Given the description of an element on the screen output the (x, y) to click on. 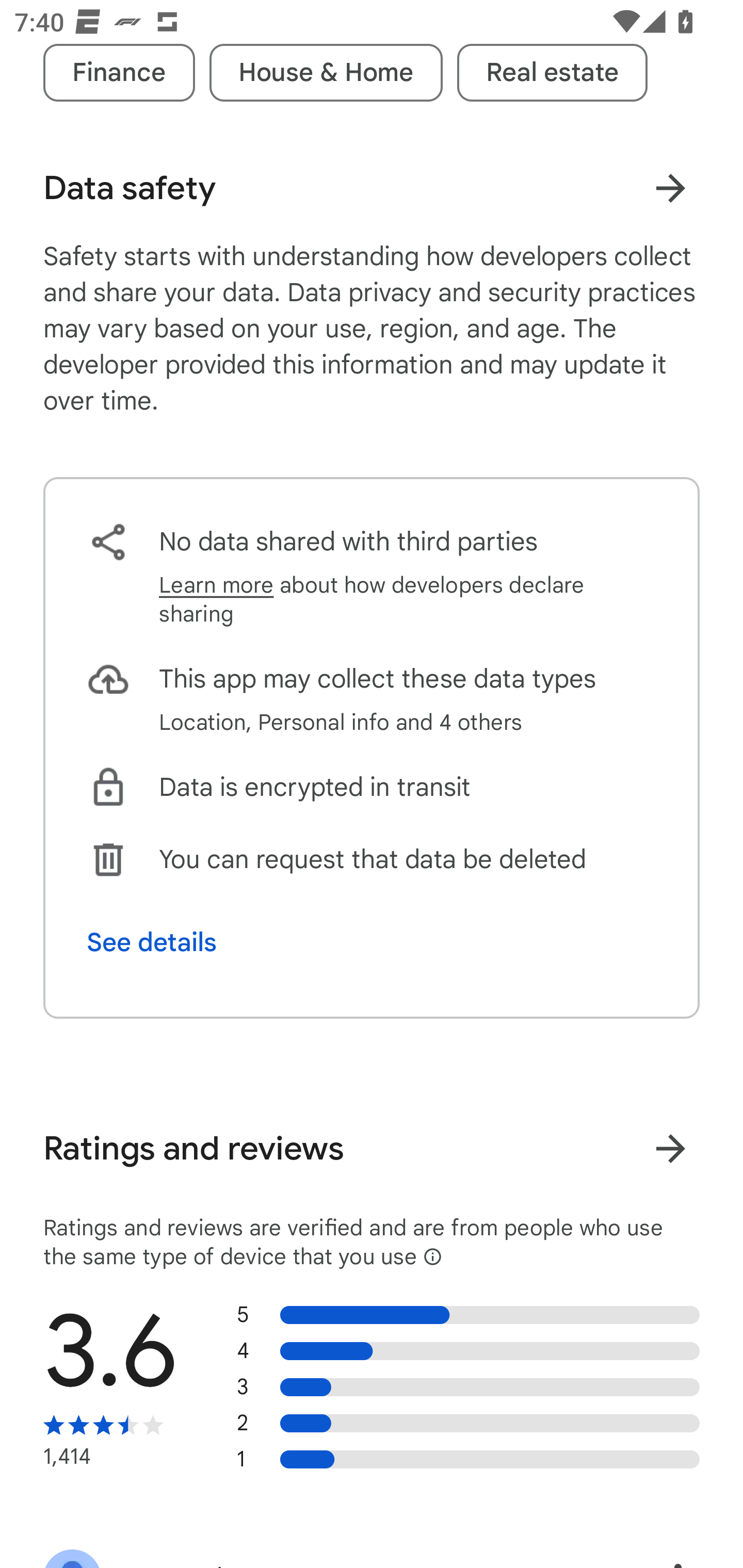
Finance tag (118, 72)
House & Home tag (325, 72)
Real estate tag (551, 72)
Data safety Learn more about data safety (371, 187)
Learn more about data safety (670, 188)
Learn more about how developers declare sharing (407, 599)
See details (151, 943)
Ratings and reviews View all ratings and reviews (371, 1148)
View all ratings and reviews (670, 1148)
